Given the description of an element on the screen output the (x, y) to click on. 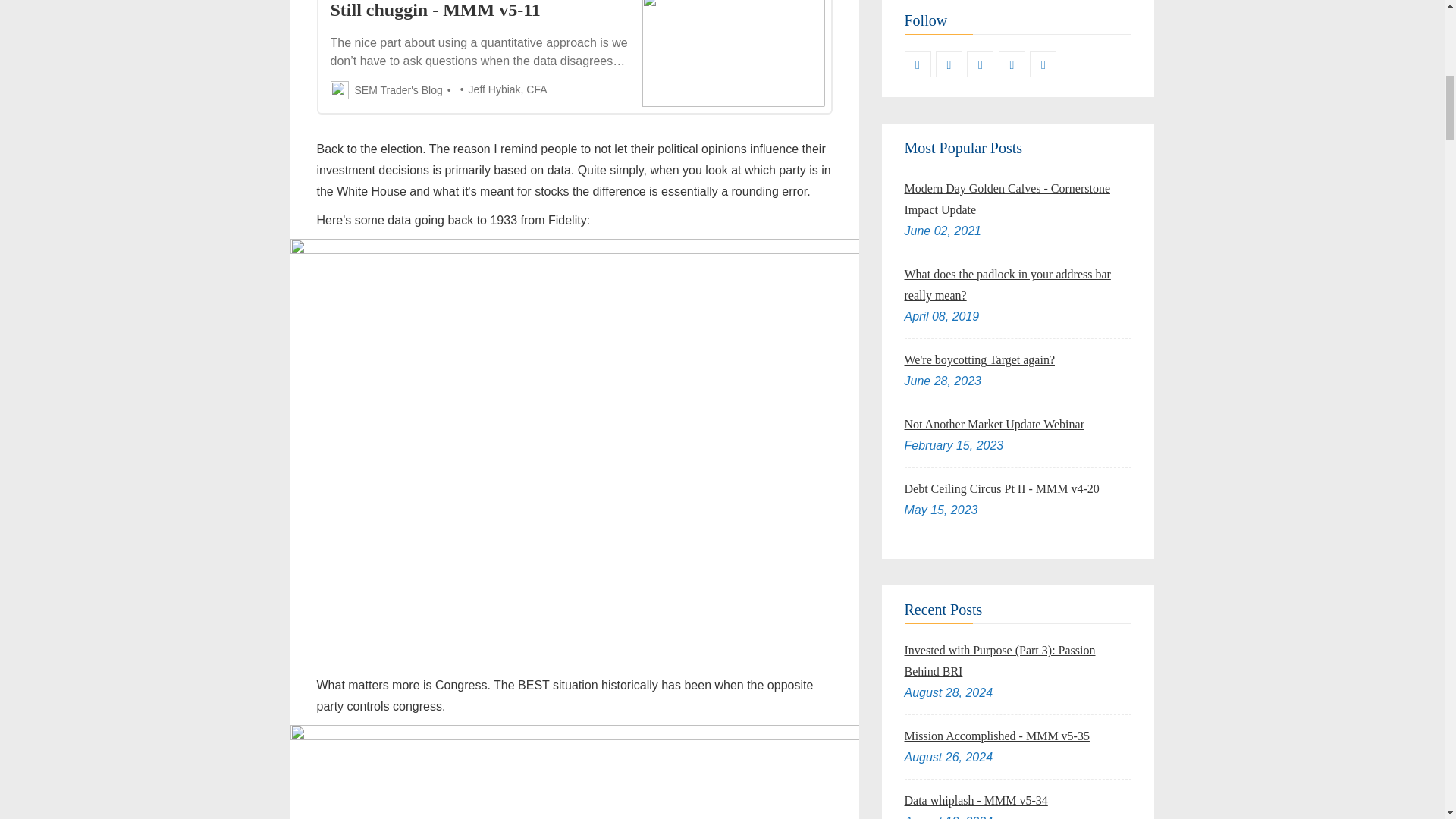
Debt Ceiling Circus Pt II - MMM v4-20 (1001, 488)
Modern Day Golden Calves - Cornerstone Impact Update (1006, 198)
Mission Accomplished - MMM v5-35 (996, 735)
What does the padlock in your address bar really mean? (1006, 284)
Data whiplash - MMM v5-34 (975, 799)
We're boycotting Target again? (979, 359)
Not Another Market Update Webinar (993, 423)
